Given the description of an element on the screen output the (x, y) to click on. 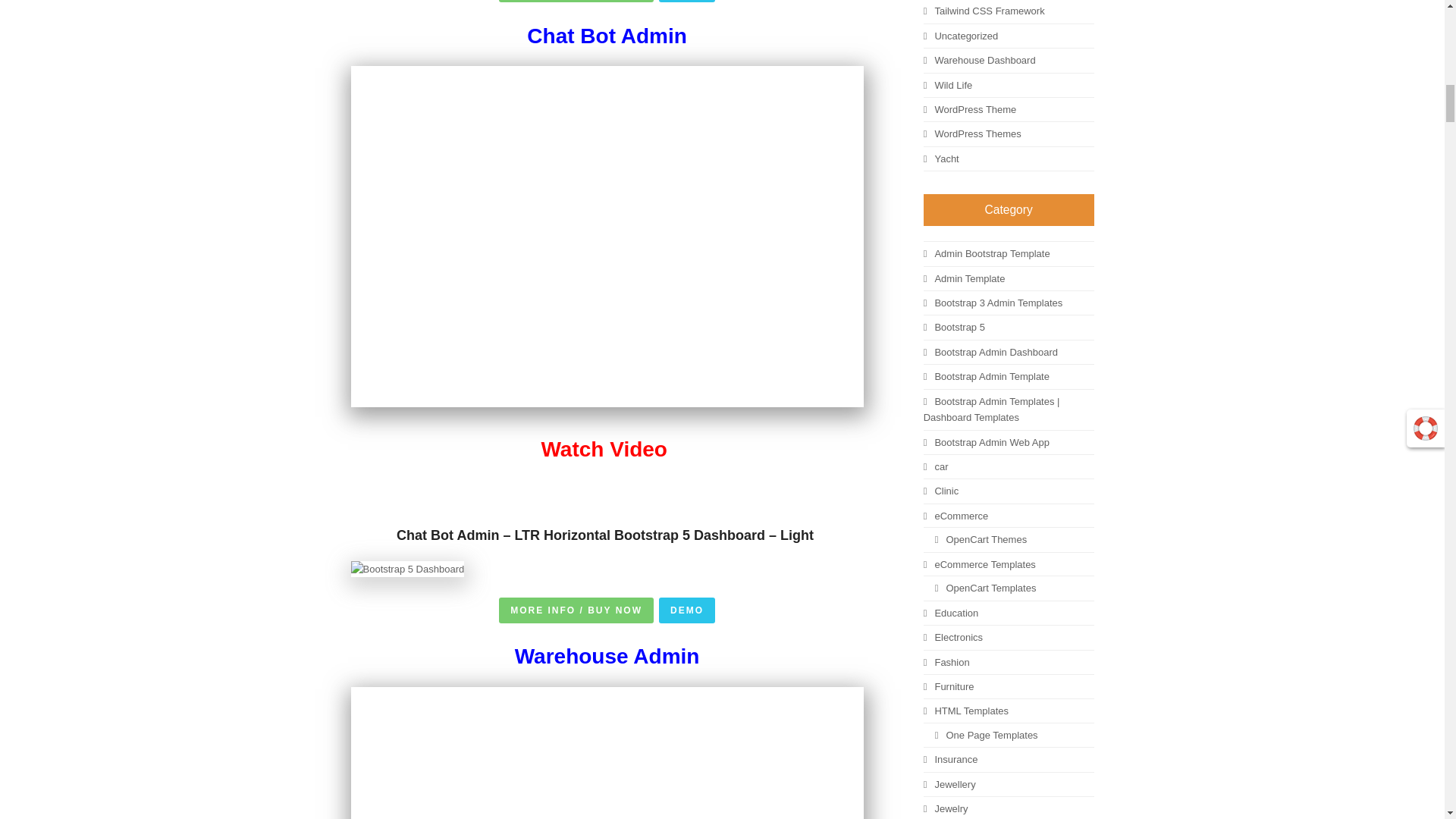
DEMO (686, 1)
YouTube video player (606, 753)
DEMO (686, 610)
